Given the description of an element on the screen output the (x, y) to click on. 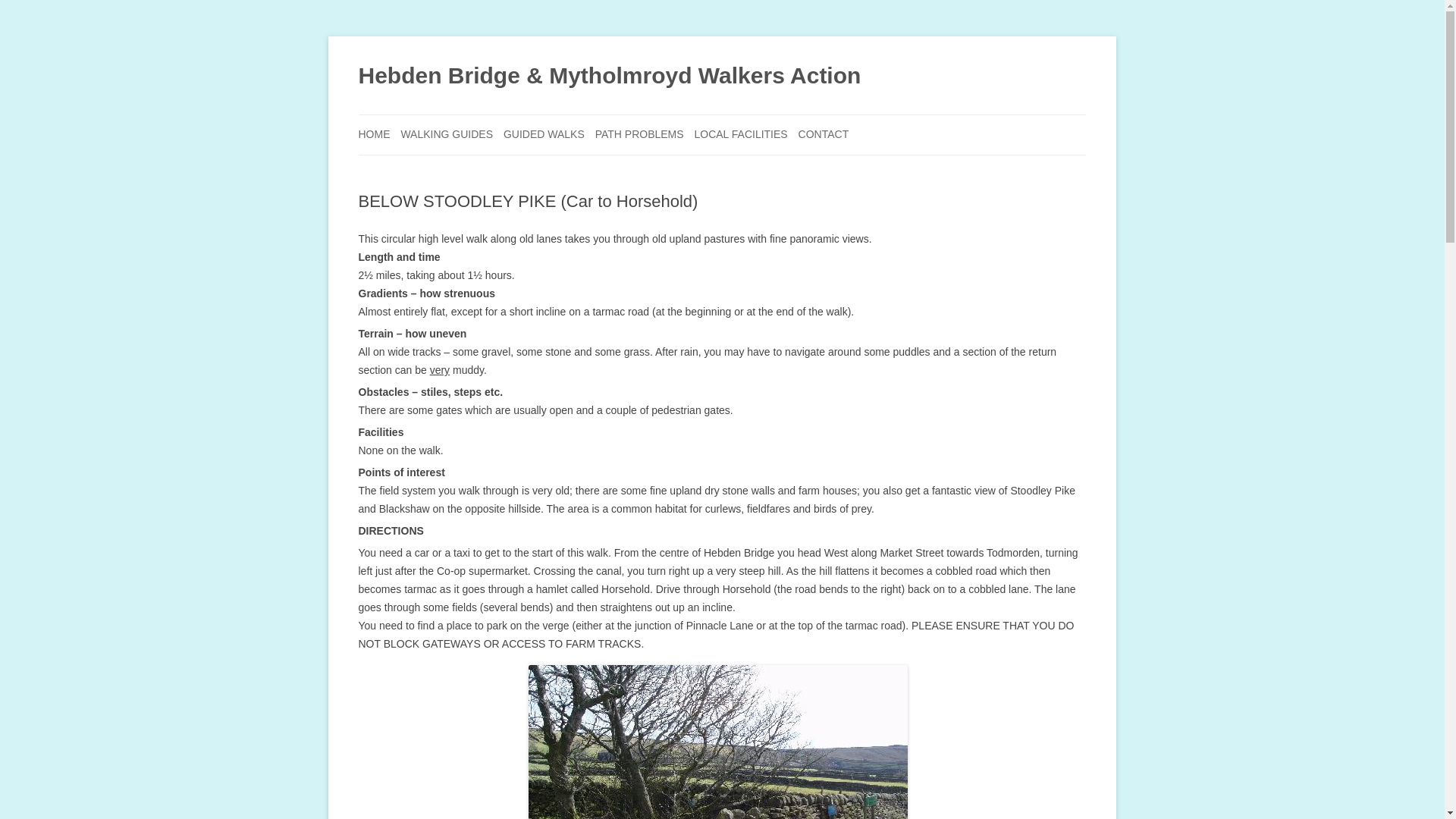
LOCAL FACILITIES (740, 134)
PUBLIC TRANSPORT (769, 169)
CONTACT (822, 134)
HOME (374, 134)
SHORTER WALKS (475, 169)
GUIDED WALKS (544, 134)
PATH PROBLEMS (639, 134)
WALKING GUIDES (446, 134)
